Given the description of an element on the screen output the (x, y) to click on. 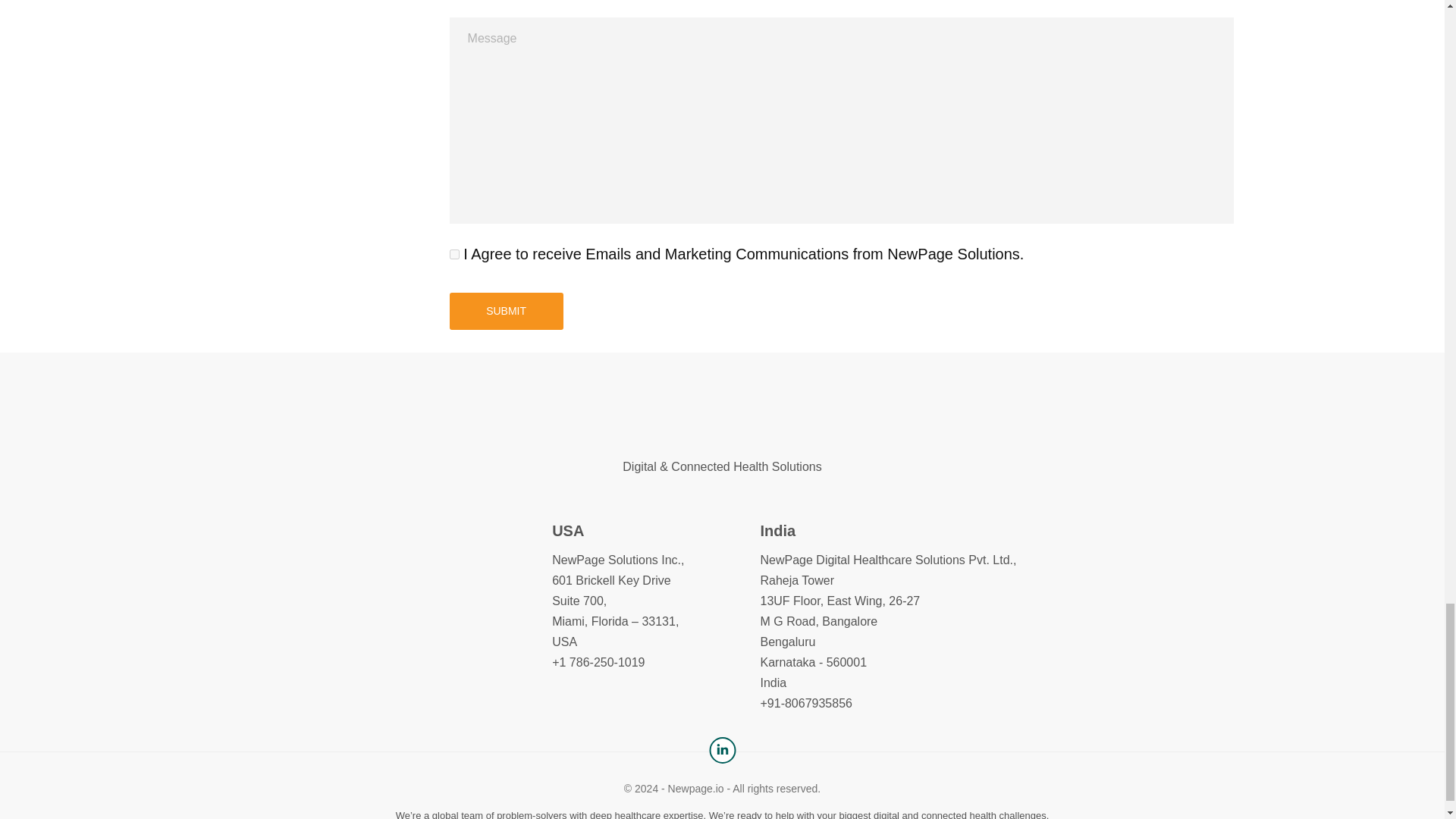
1 (454, 253)
SUBMIT (506, 311)
SUBMIT (506, 311)
